Given the description of an element on the screen output the (x, y) to click on. 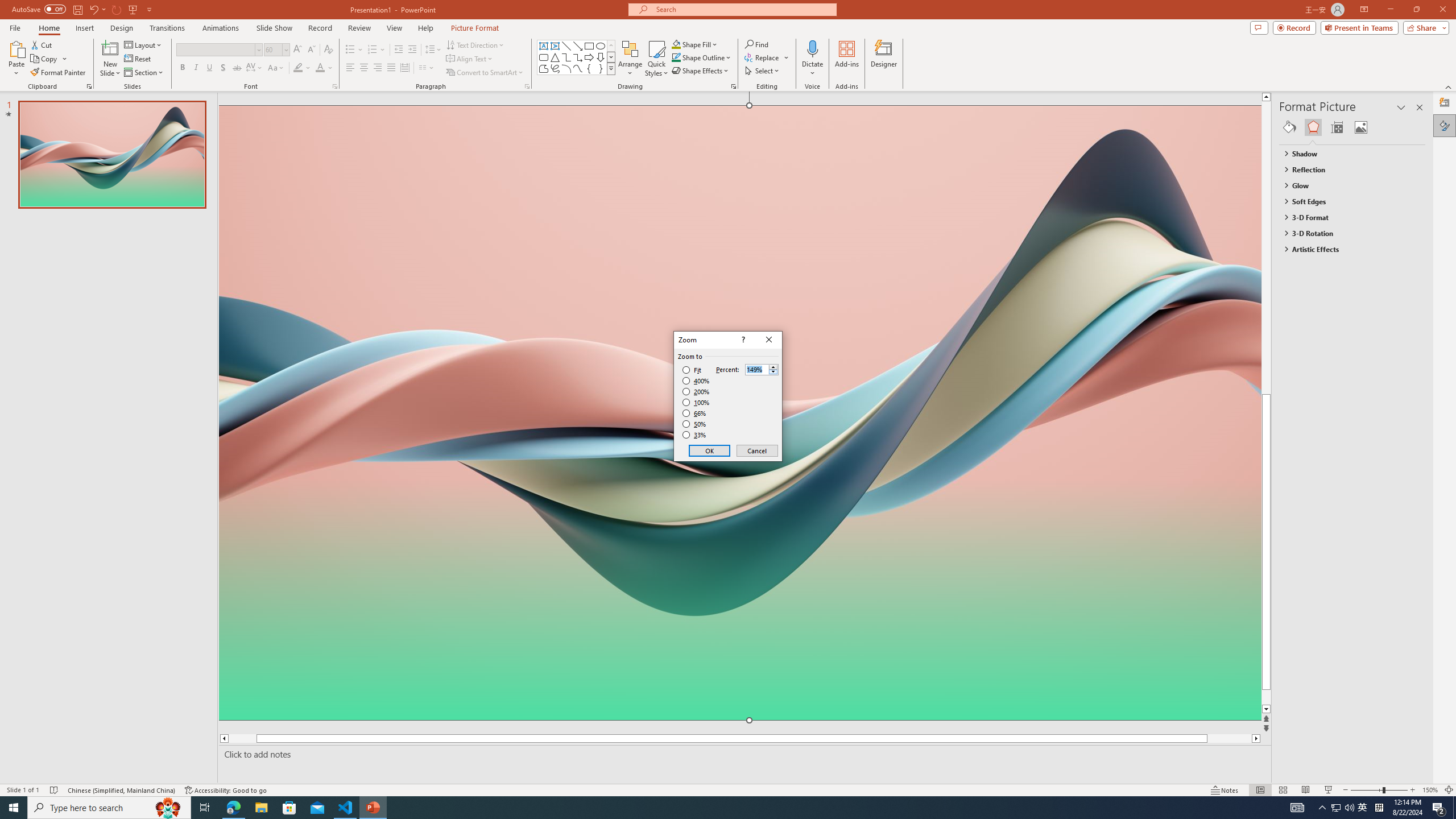
Effects (1313, 126)
Percent (756, 369)
Zoom 150% (1430, 790)
